Given the description of an element on the screen output the (x, y) to click on. 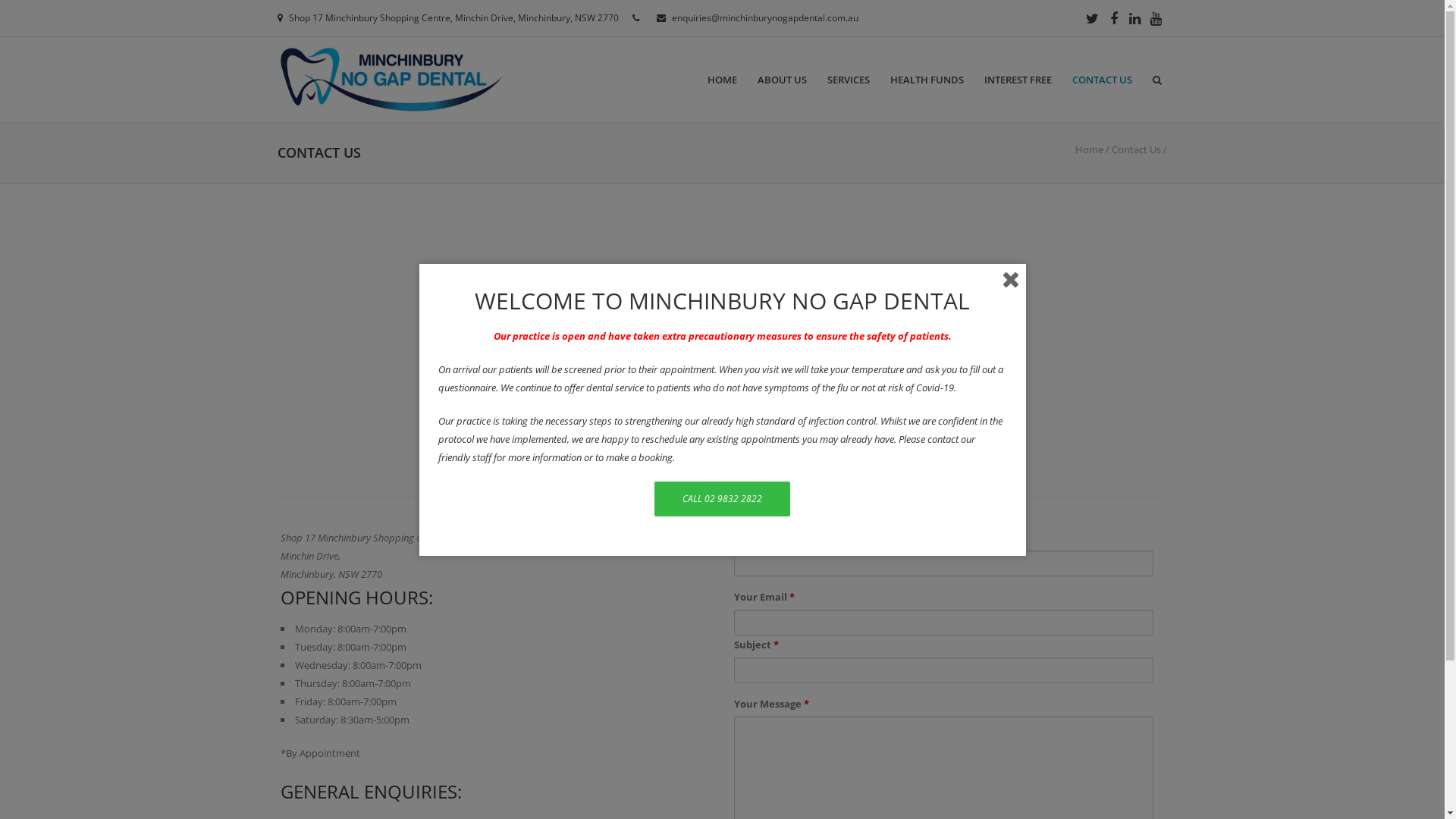
LinkedIn Element type: hover (1135, 18)
CONTACT US Element type: text (1101, 79)
CALL 02 9832 2822 Element type: text (722, 497)
Twitter Element type: hover (1092, 18)
SERVICES Element type: text (848, 79)
ABOUT US Element type: text (781, 79)
enquiries@minchinburynogapdental.com.au Element type: text (764, 17)
INTEREST FREE Element type: text (1017, 79)
YouTube Element type: hover (1156, 18)
Facebook Element type: hover (1113, 18)
Home Element type: text (1089, 149)
HEALTH FUNDS Element type: text (926, 79)
HOME Element type: text (721, 79)
